Given the description of an element on the screen output the (x, y) to click on. 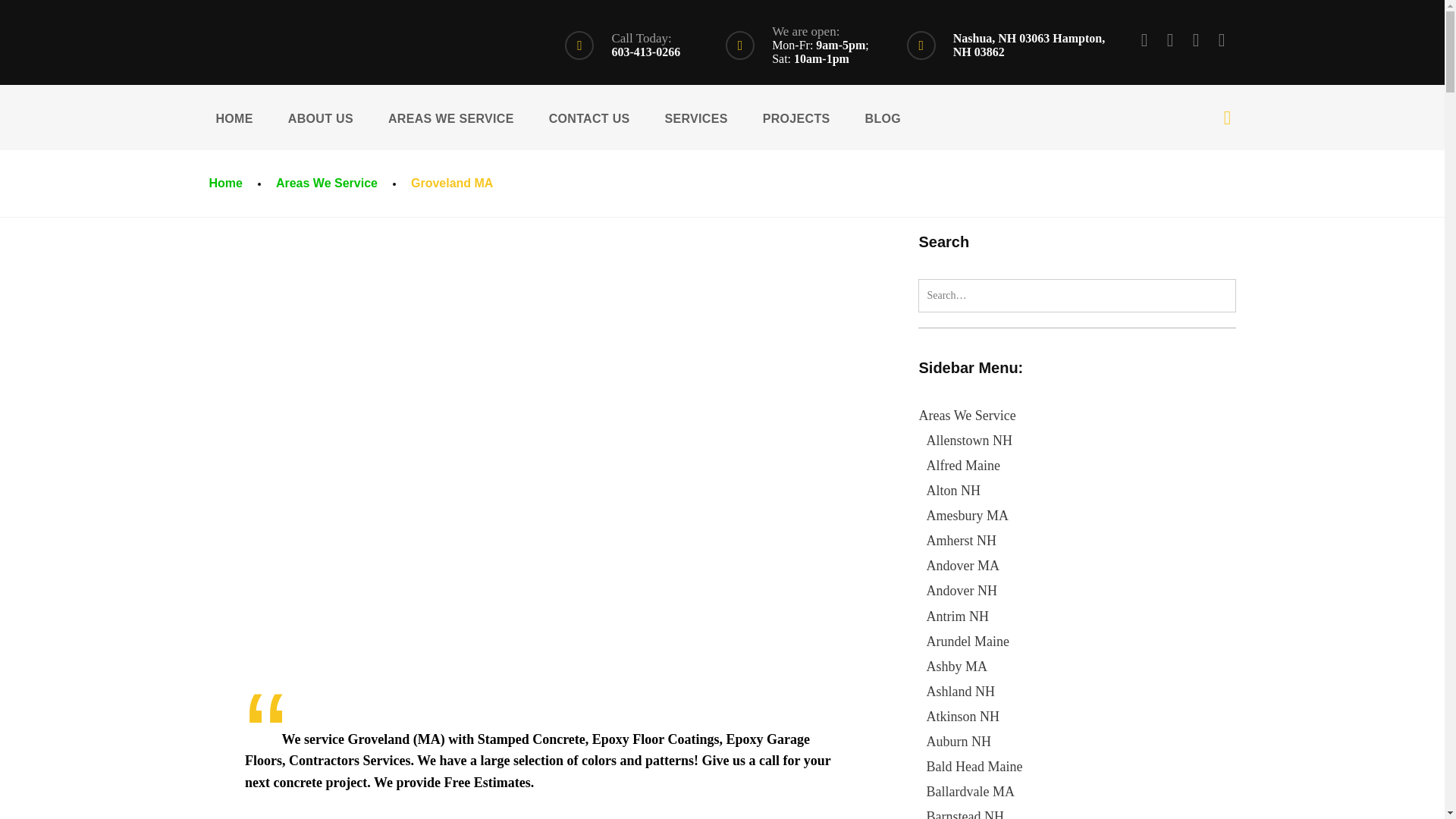
Bald Head Maine (974, 766)
Arundel Maine (967, 641)
CONTACT US (589, 117)
Atkinson NH (962, 716)
Antrim NH (957, 615)
Amesbury MA (967, 515)
Allenstown NH (968, 440)
Andover MA (962, 565)
Amherst NH (960, 540)
Home (224, 182)
